Given the description of an element on the screen output the (x, y) to click on. 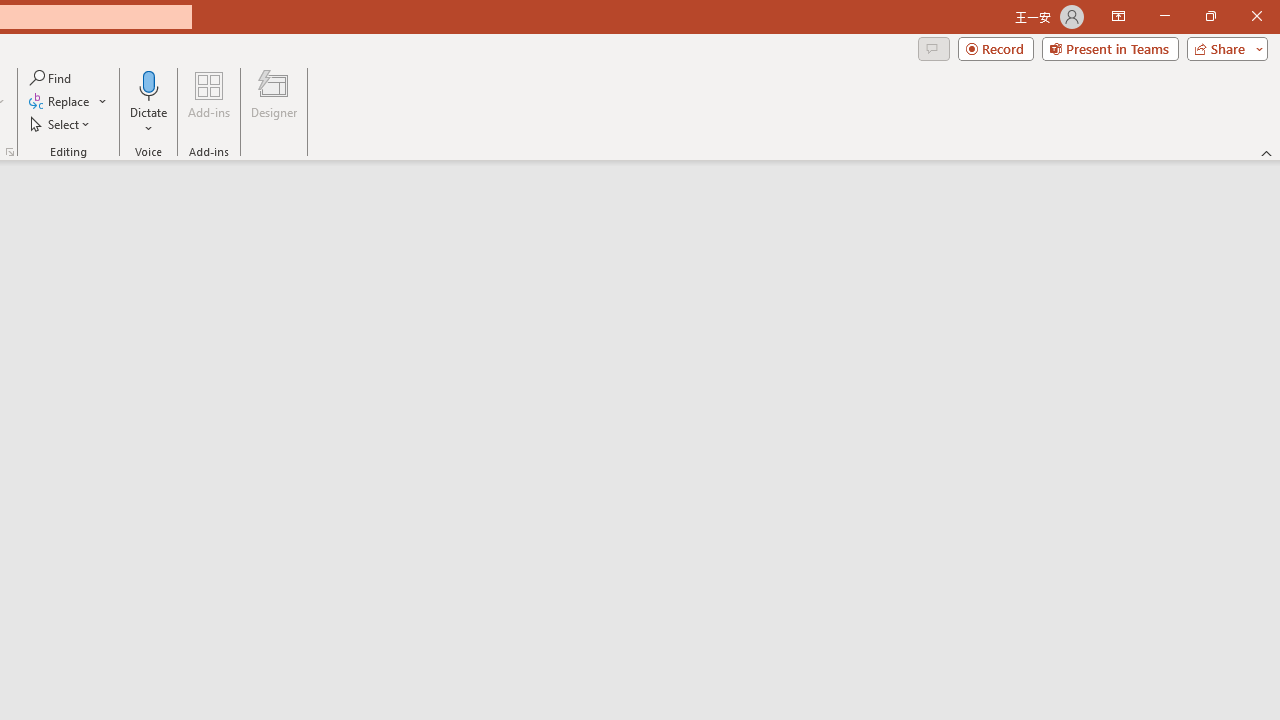
Select (61, 124)
Format Object... (9, 151)
